Given the description of an element on the screen output the (x, y) to click on. 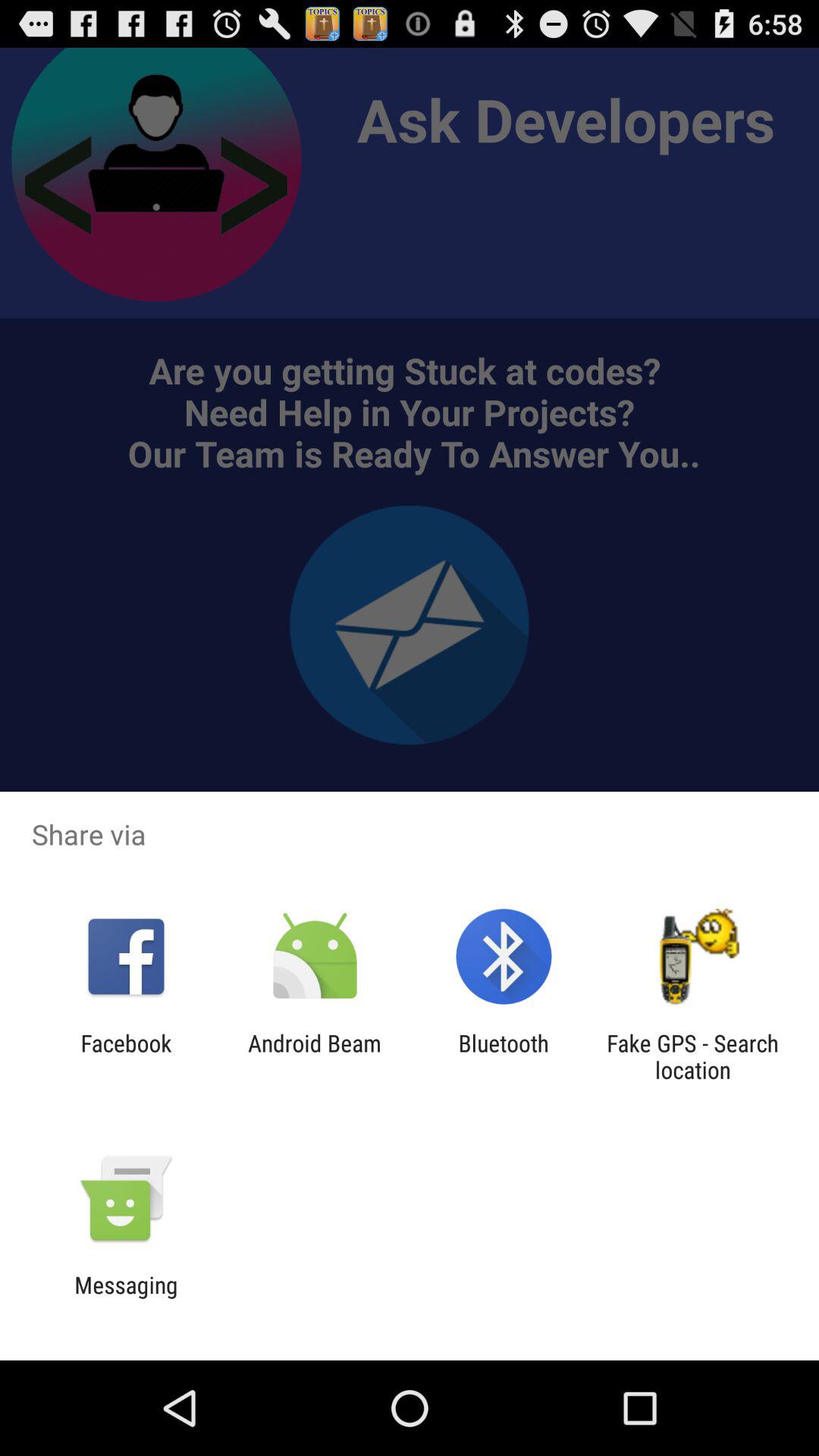
tap the icon next to the android beam icon (125, 1056)
